Given the description of an element on the screen output the (x, y) to click on. 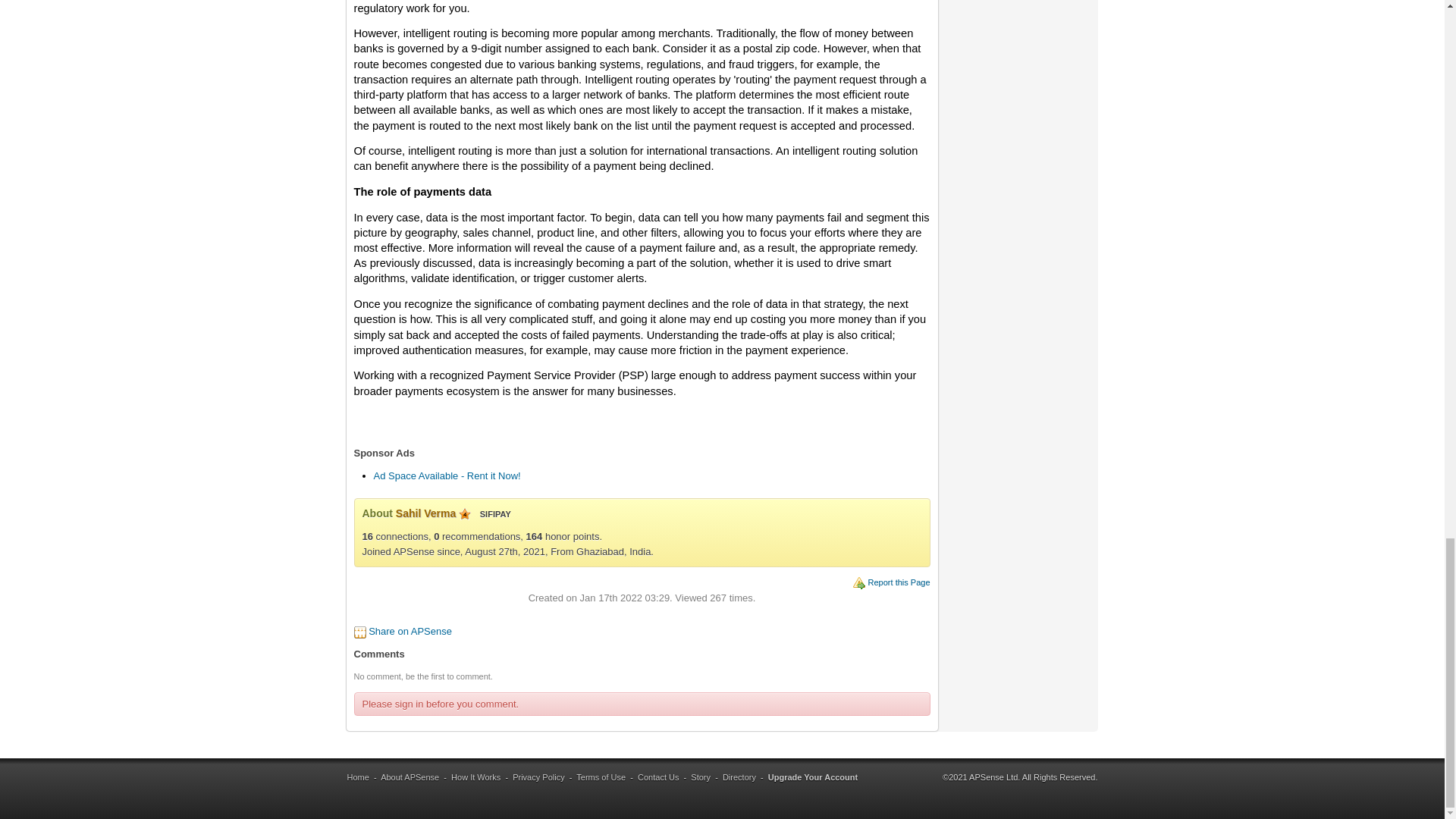
Report this Page (898, 582)
Sahil Verma (425, 512)
Ad Space Available - Rent it Now! (445, 475)
Advanced (464, 513)
Share on APSense (409, 631)
Share on APSense (409, 631)
